Given the description of an element on the screen output the (x, y) to click on. 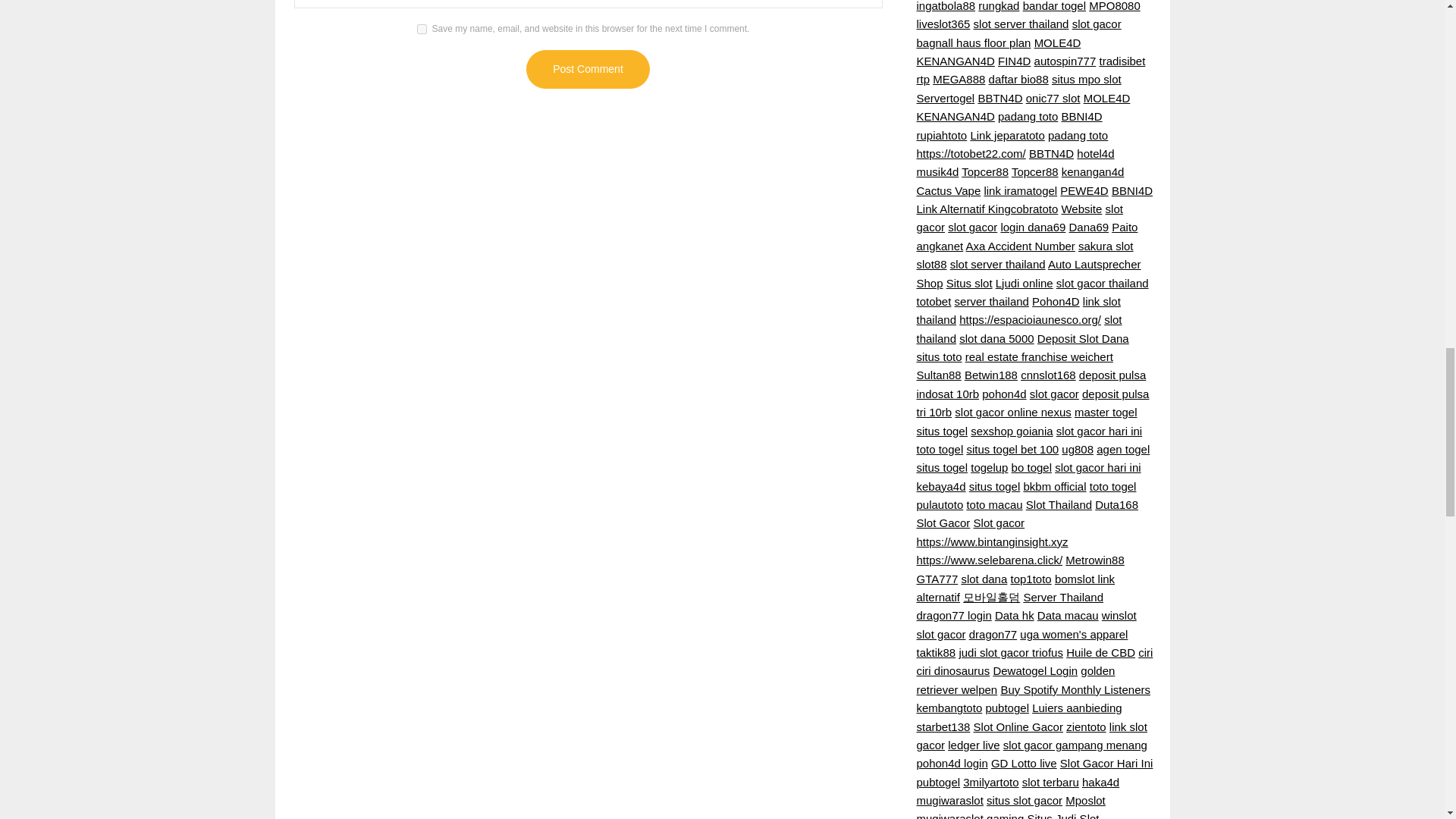
yes (421, 29)
Post Comment (587, 68)
Post Comment (587, 68)
